Given the description of an element on the screen output the (x, y) to click on. 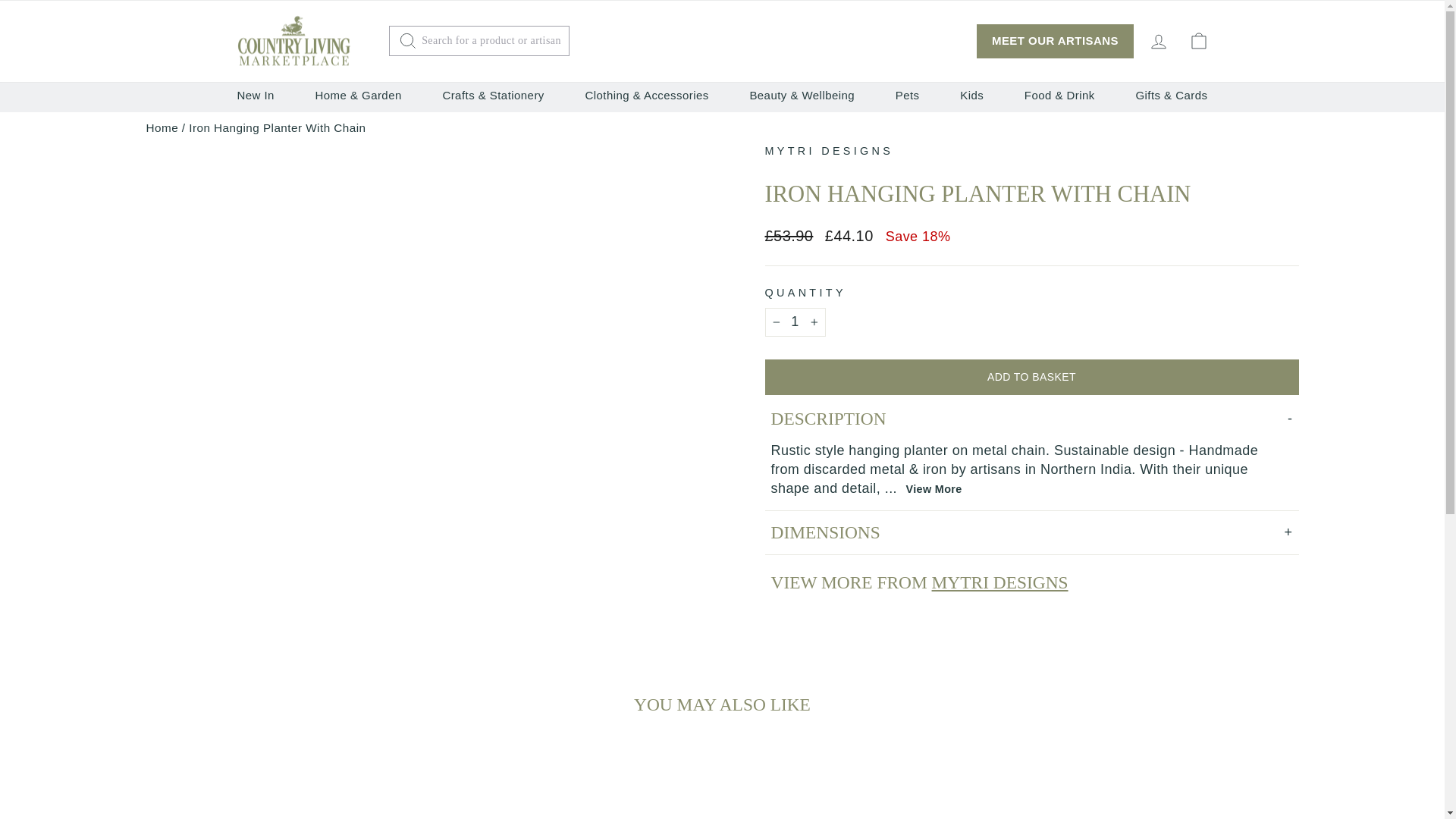
Back to the frontpage (161, 127)
1 (794, 321)
Mytri Designs (828, 150)
